Given the description of an element on the screen output the (x, y) to click on. 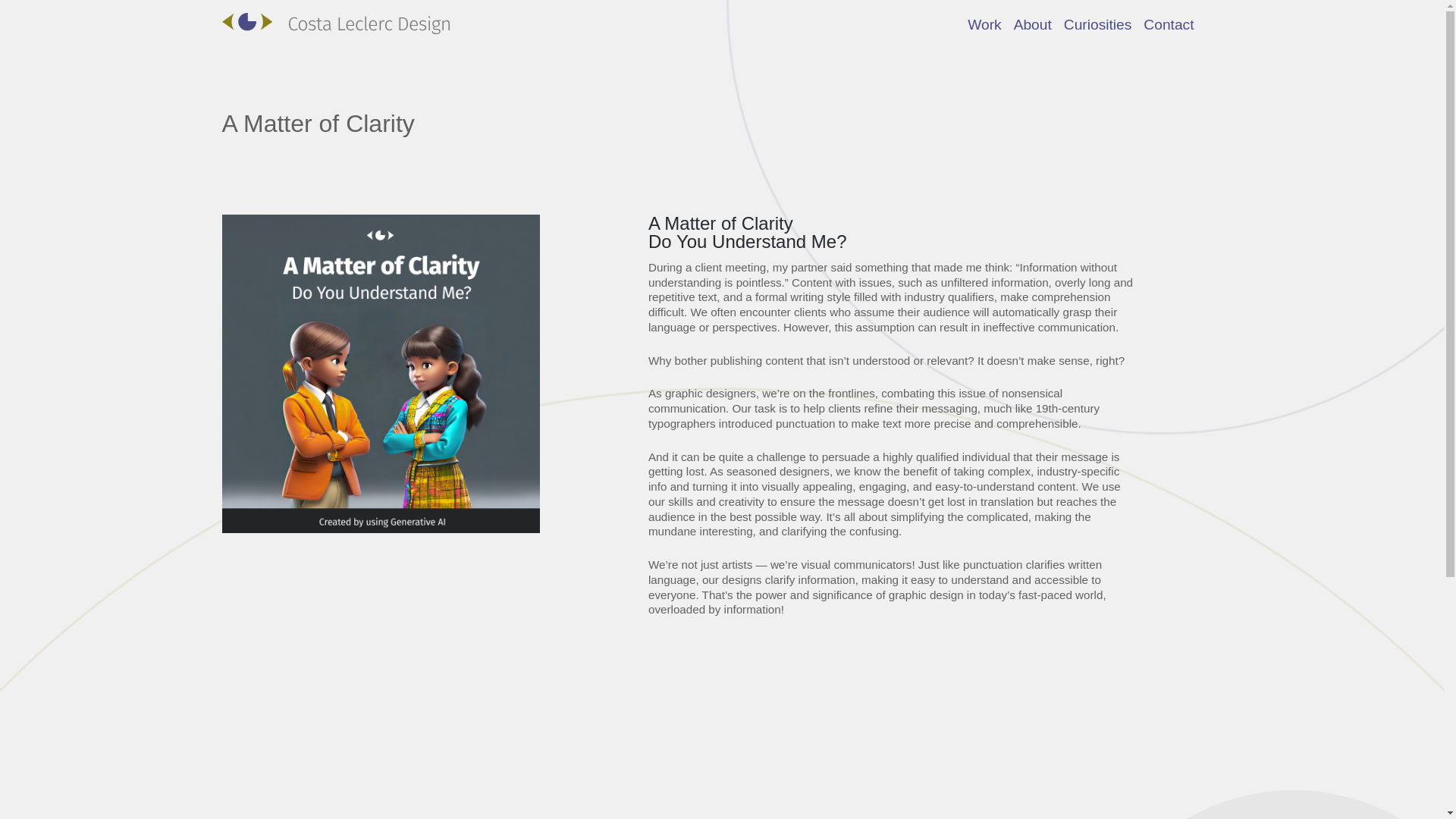
Contact (1168, 24)
Curiosities (1098, 24)
Work (983, 24)
Curiosities (1098, 24)
Work (983, 24)
Contact (1168, 24)
About (1032, 24)
About (1032, 24)
